Given the description of an element on the screen output the (x, y) to click on. 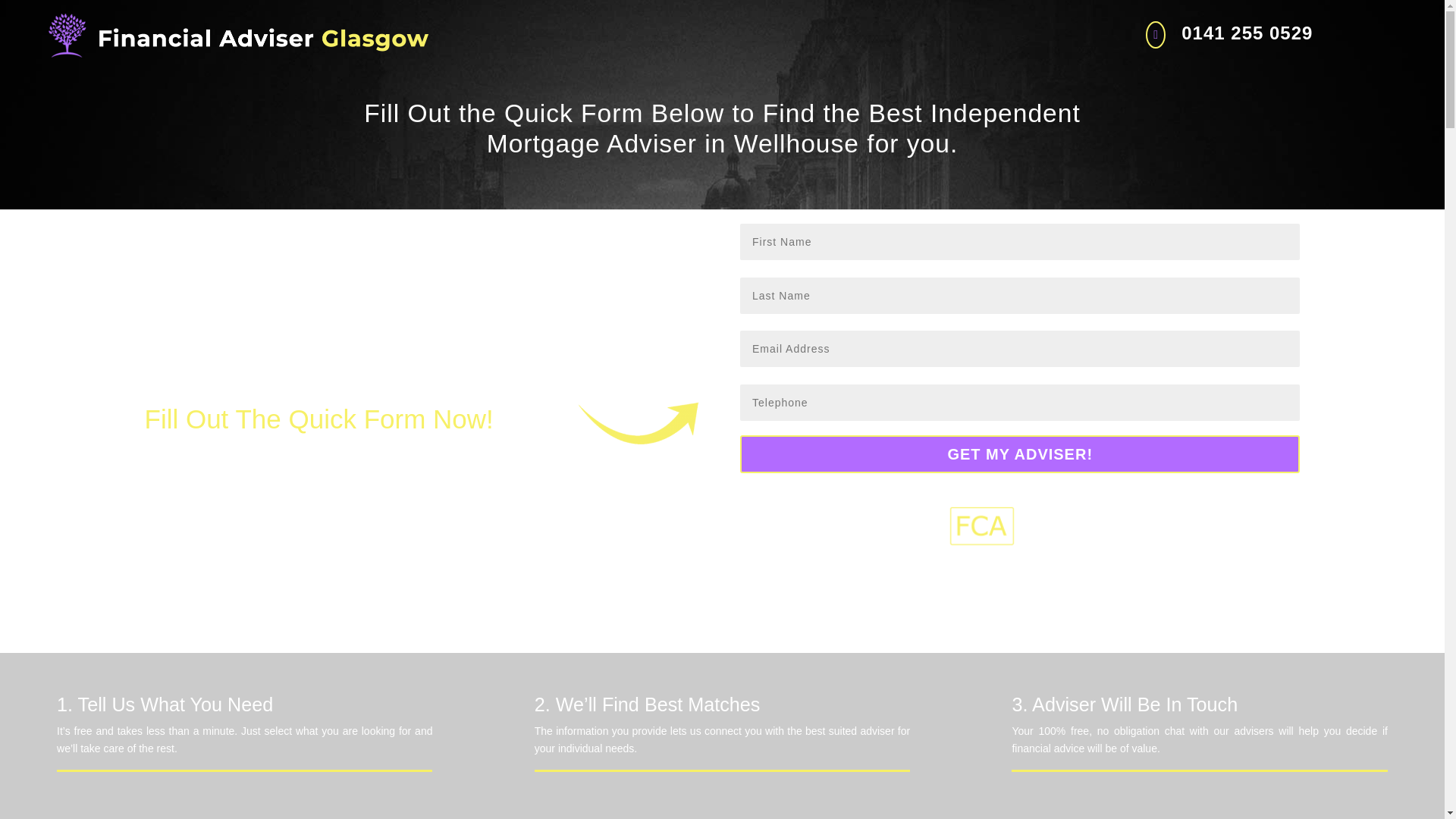
Logo-FAG (238, 35)
FCA-FAG (1019, 525)
Only numbers allowed. (1019, 402)
